Given the description of an element on the screen output the (x, y) to click on. 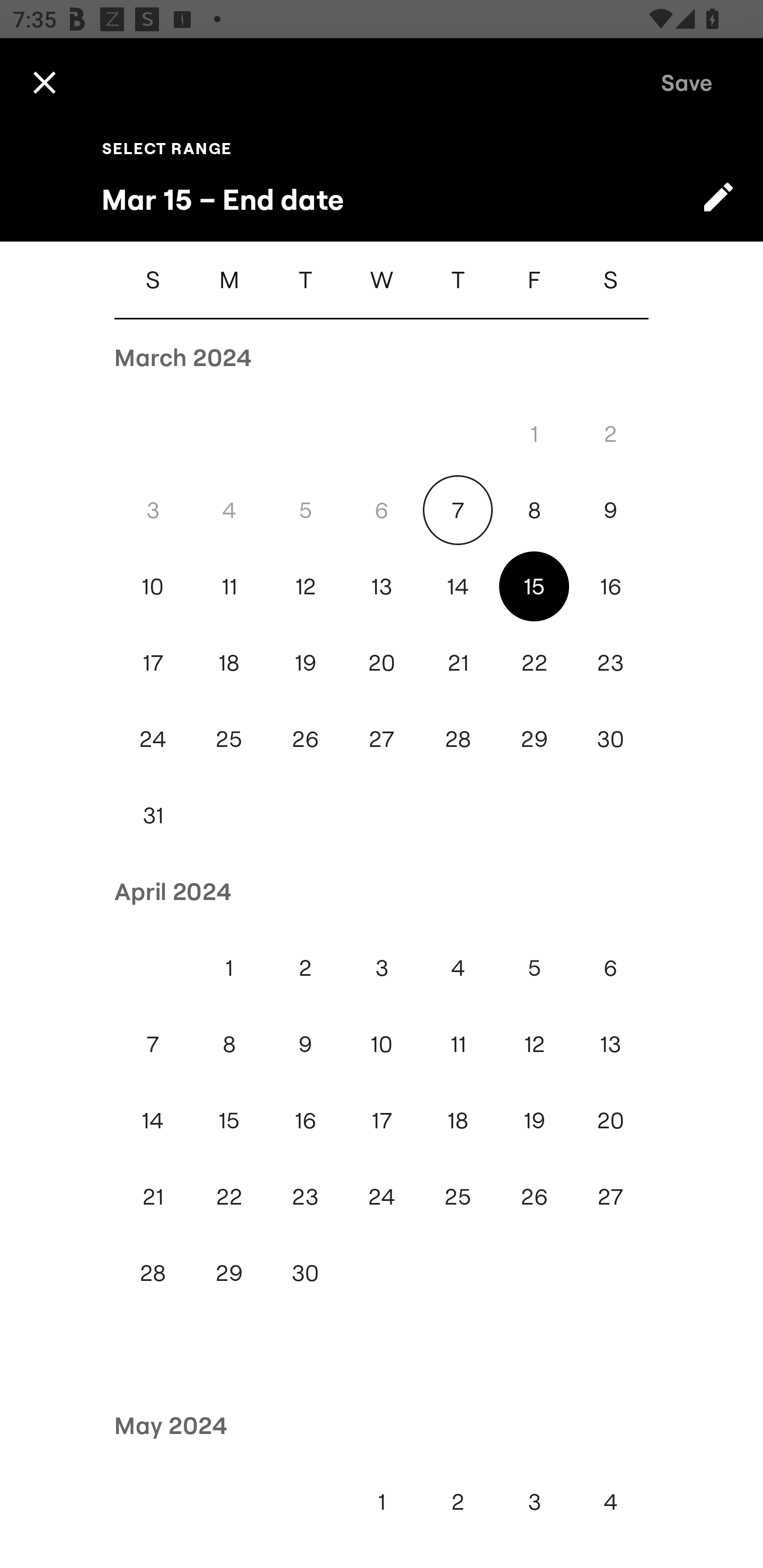
Cancel (44, 81)
Save (686, 81)
Switch to text input mode (718, 196)
1 Fri, Mar 1 (533, 433)
2 Sat, Mar 2 (610, 433)
3 Sun, Mar 3 (152, 509)
4 Mon, Mar 4 (228, 509)
5 Tue, Mar 5 (305, 509)
6 Wed, Mar 6 (381, 509)
7 Thu, Mar 7 (457, 509)
8 Fri, Mar 8 (533, 509)
9 Sat, Mar 9 (610, 509)
10 Sun, Mar 10 (152, 586)
11 Mon, Mar 11 (228, 586)
12 Tue, Mar 12 (305, 586)
13 Wed, Mar 13 (381, 586)
14 Thu, Mar 14 (457, 586)
15 Fri, Mar 15 (533, 586)
16 Sat, Mar 16 (610, 586)
17 Sun, Mar 17 (152, 662)
18 Mon, Mar 18 (228, 662)
19 Tue, Mar 19 (305, 662)
20 Wed, Mar 20 (381, 662)
21 Thu, Mar 21 (457, 662)
22 Fri, Mar 22 (533, 662)
23 Sat, Mar 23 (610, 662)
24 Sun, Mar 24 (152, 738)
25 Mon, Mar 25 (228, 738)
26 Tue, Mar 26 (305, 738)
27 Wed, Mar 27 (381, 738)
28 Thu, Mar 28 (457, 738)
29 Fri, Mar 29 (533, 738)
30 Sat, Mar 30 (610, 738)
31 Sun, Mar 31 (152, 814)
1 Mon, Apr 1 (228, 967)
2 Tue, Apr 2 (305, 967)
3 Wed, Apr 3 (381, 967)
4 Thu, Apr 4 (457, 967)
5 Fri, Apr 5 (533, 967)
6 Sat, Apr 6 (610, 967)
7 Sun, Apr 7 (152, 1043)
8 Mon, Apr 8 (228, 1043)
9 Tue, Apr 9 (305, 1043)
10 Wed, Apr 10 (381, 1043)
11 Thu, Apr 11 (457, 1043)
12 Fri, Apr 12 (533, 1043)
13 Sat, Apr 13 (610, 1043)
14 Sun, Apr 14 (152, 1119)
15 Mon, Apr 15 (228, 1119)
16 Tue, Apr 16 (305, 1119)
17 Wed, Apr 17 (381, 1119)
18 Thu, Apr 18 (457, 1119)
19 Fri, Apr 19 (533, 1119)
20 Sat, Apr 20 (610, 1119)
21 Sun, Apr 21 (152, 1196)
22 Mon, Apr 22 (228, 1196)
23 Tue, Apr 23 (305, 1196)
24 Wed, Apr 24 (381, 1196)
25 Thu, Apr 25 (457, 1196)
26 Fri, Apr 26 (533, 1196)
27 Sat, Apr 27 (610, 1196)
28 Sun, Apr 28 (152, 1272)
29 Mon, Apr 29 (228, 1272)
30 Tue, Apr 30 (305, 1272)
1 Wed, May 1 (381, 1500)
2 Thu, May 2 (457, 1500)
3 Fri, May 3 (533, 1500)
4 Sat, May 4 (610, 1500)
